Given the description of an element on the screen output the (x, y) to click on. 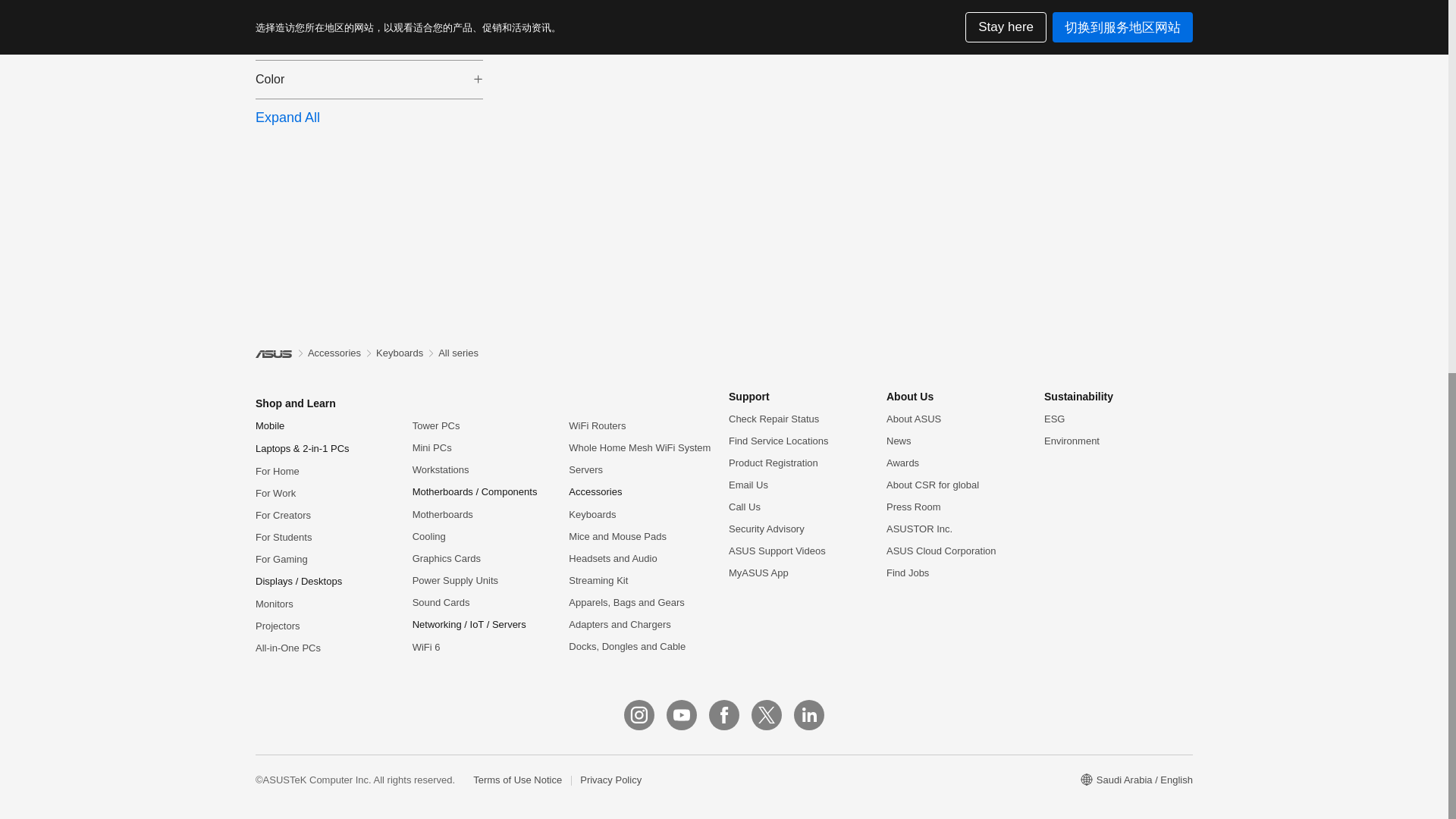
All series (458, 353)
For Work (275, 492)
For Creators (283, 514)
For Home (277, 471)
